Given the description of an element on the screen output the (x, y) to click on. 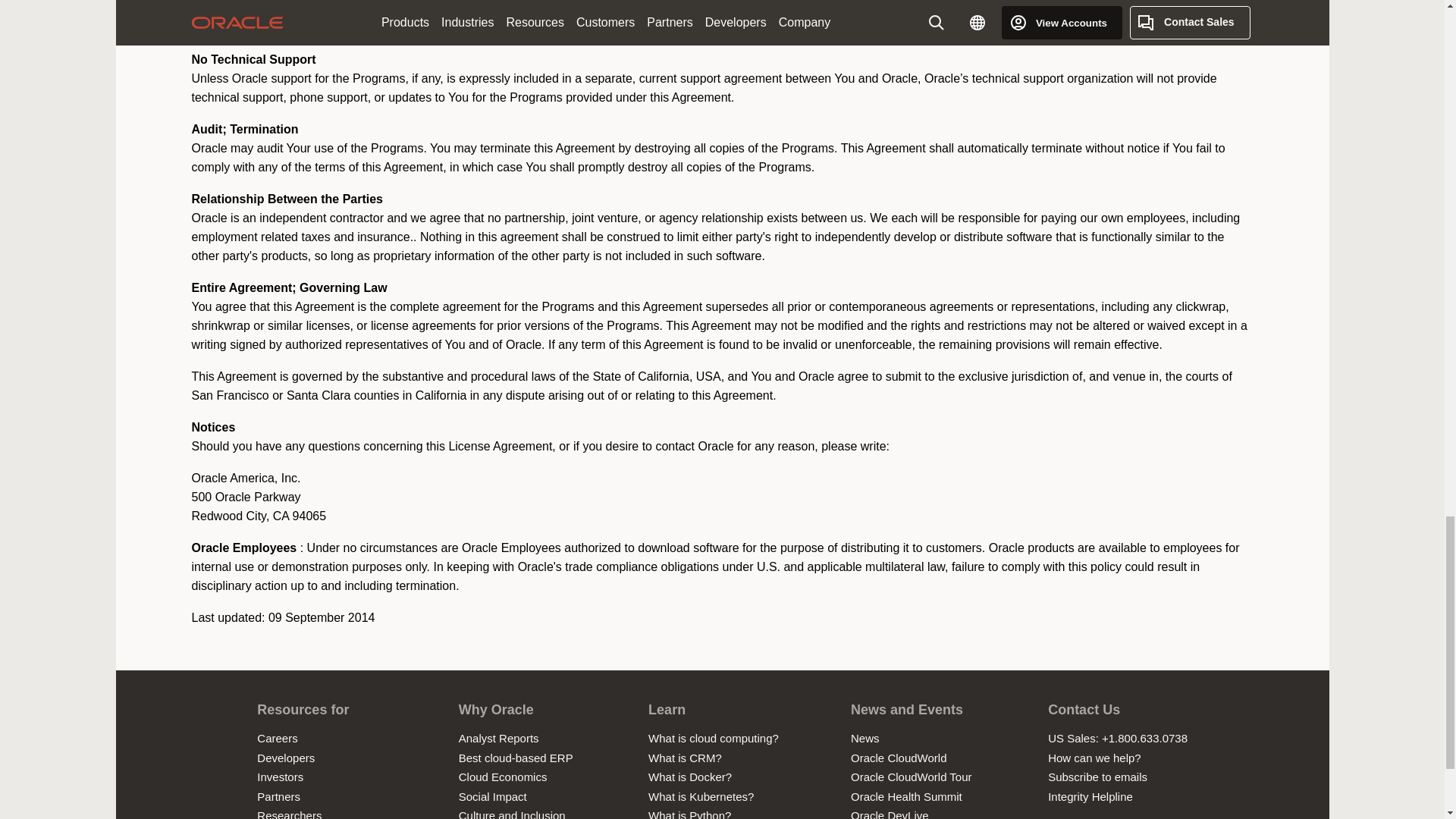
Researchers (289, 814)
Developers (285, 757)
Partners (278, 796)
Investors (279, 776)
Careers (277, 738)
